Given the description of an element on the screen output the (x, y) to click on. 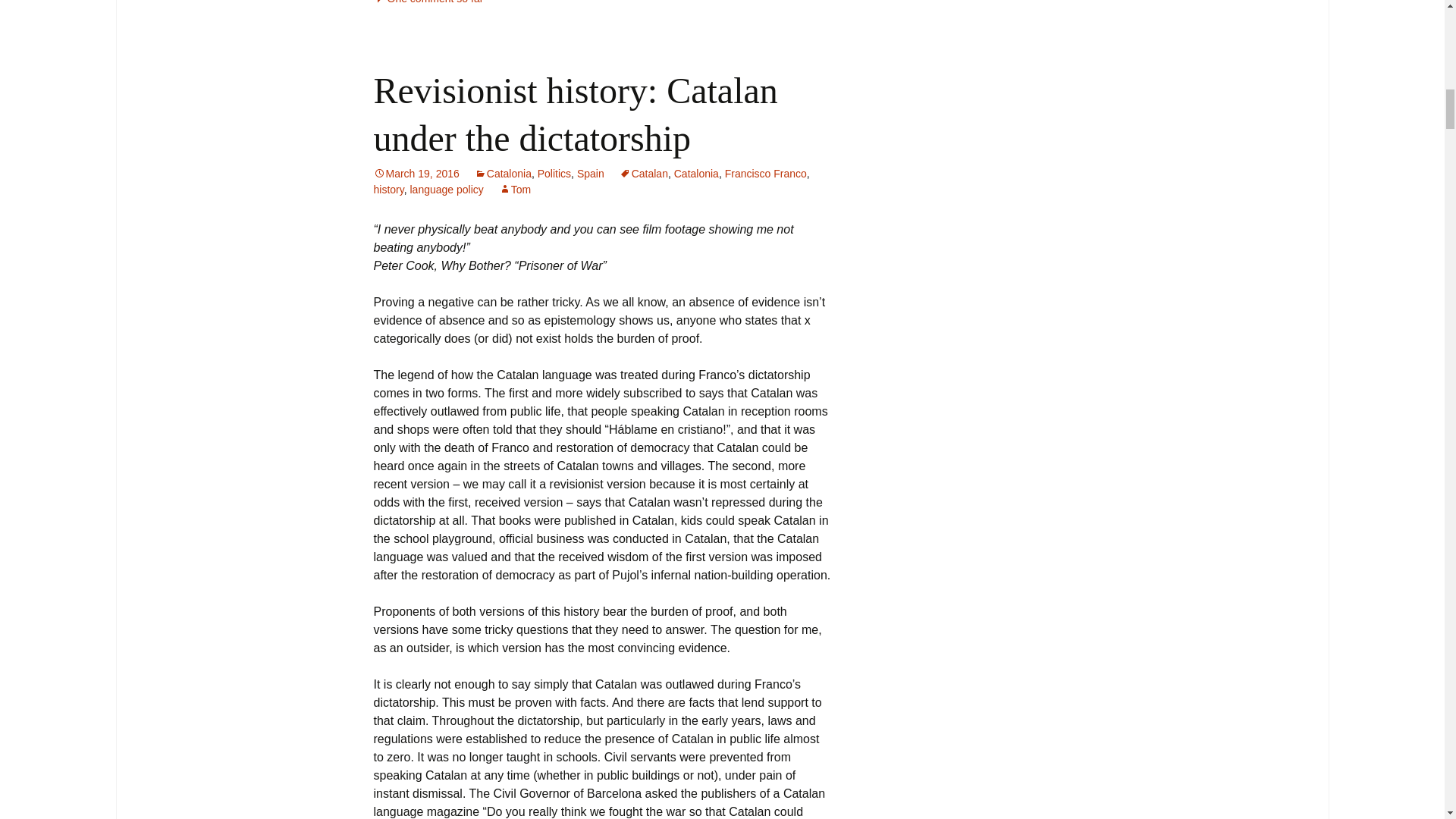
View all posts by Tom (515, 189)
One comment so far (427, 2)
Francisco Franco (765, 173)
Tom (515, 189)
March 19, 2016 (415, 173)
language policy (446, 189)
Catalonia (696, 173)
Revisionist history: Catalan under the dictatorship (574, 114)
Politics (553, 173)
history (387, 189)
Catalan (644, 173)
Spain (590, 173)
Catalonia (502, 173)
